Given the description of an element on the screen output the (x, y) to click on. 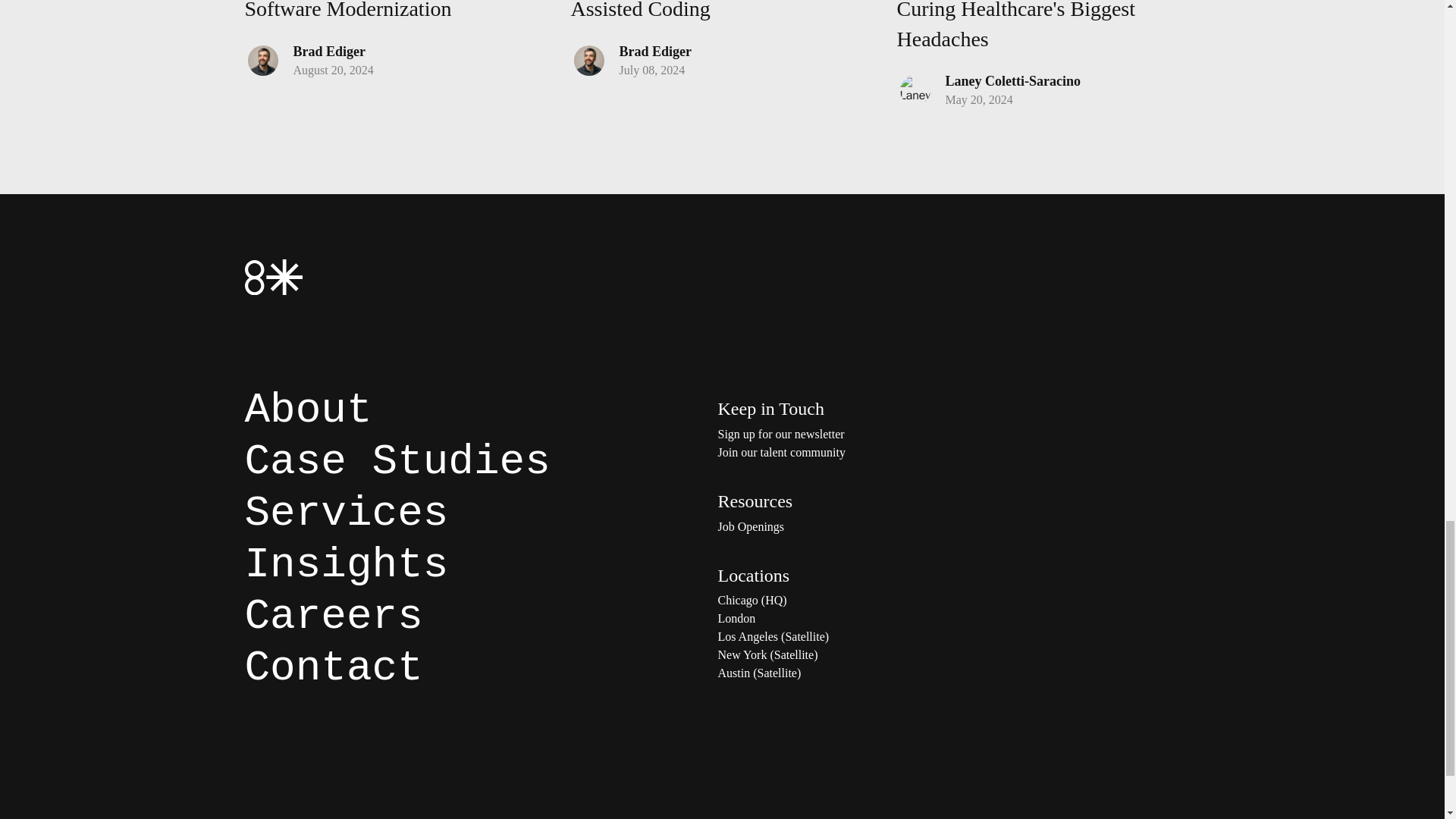
Careers (333, 616)
Contact (333, 667)
Insights (346, 564)
Brad Ediger (654, 51)
Job Openings (868, 526)
Brad Ediger (328, 51)
Laney Coletti-Saracino (1012, 80)
Join our talent community (868, 452)
